Given the description of an element on the screen output the (x, y) to click on. 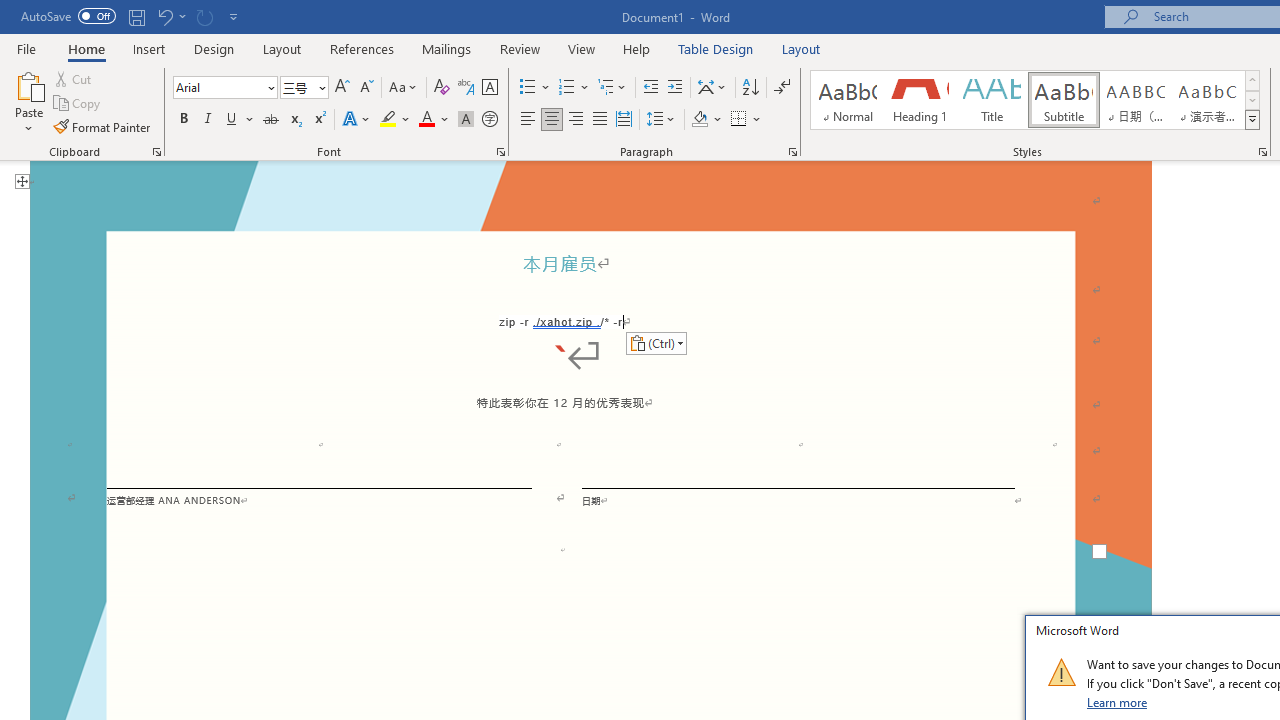
Can't Repeat (204, 15)
